Given the description of an element on the screen output the (x, y) to click on. 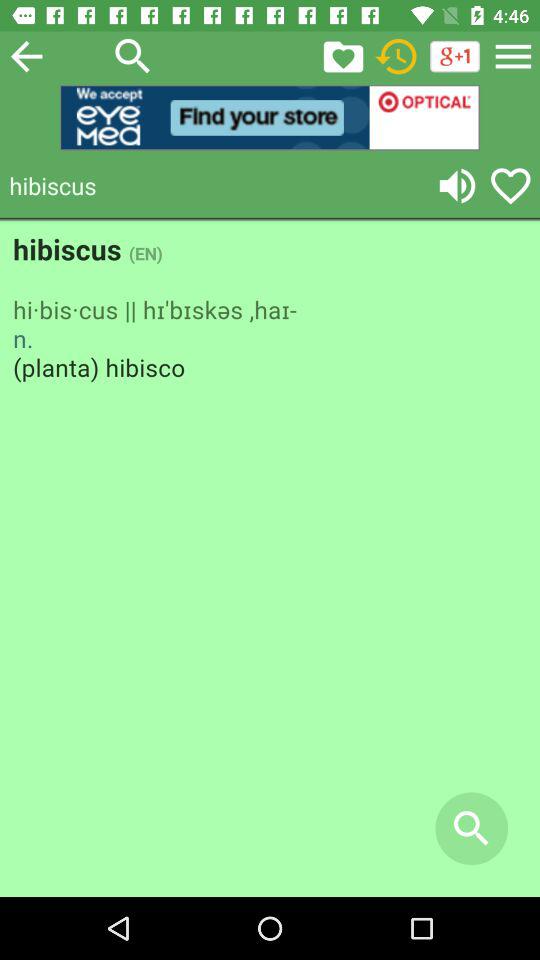
speaker button (457, 185)
